Given the description of an element on the screen output the (x, y) to click on. 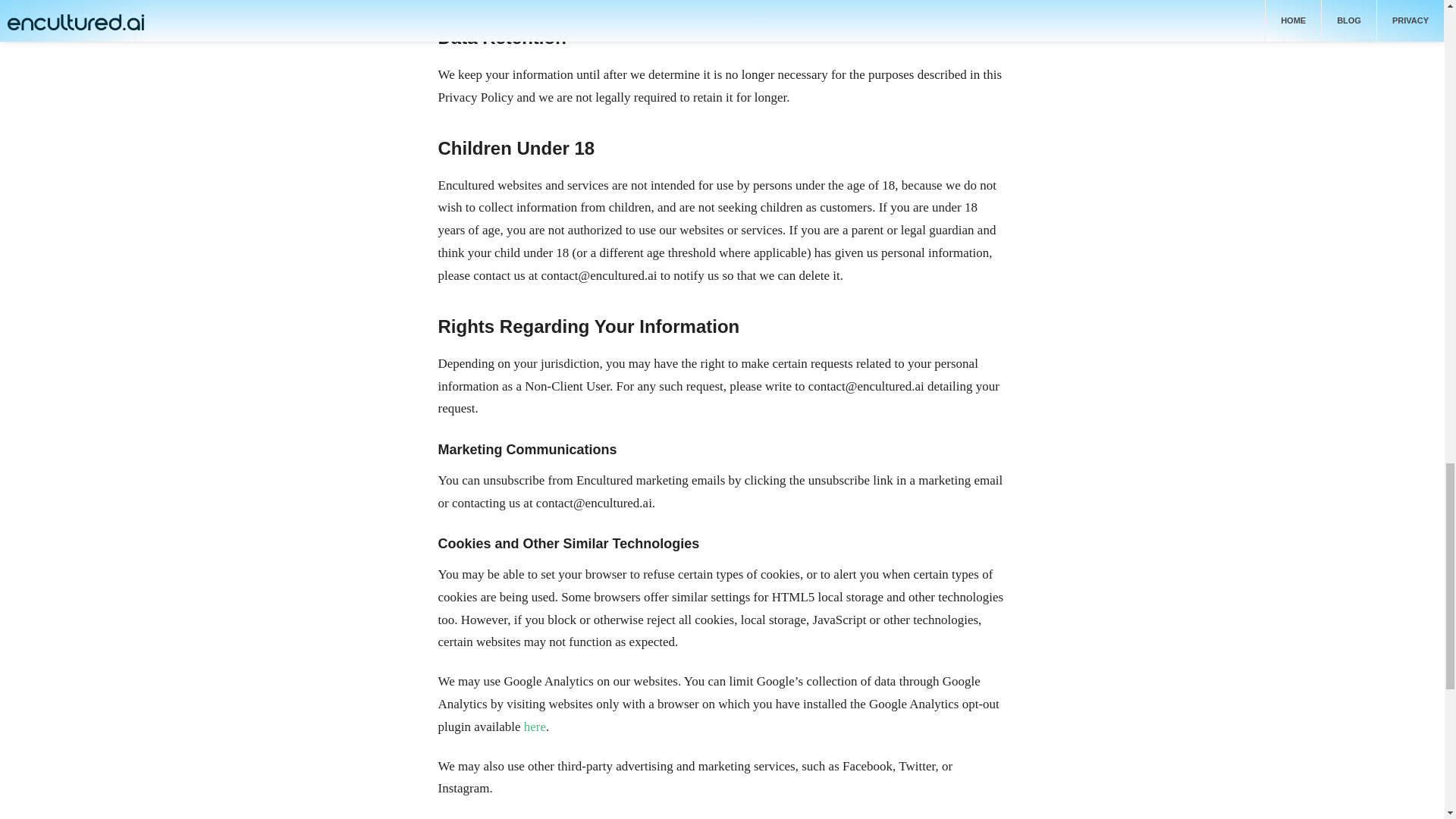
here (535, 726)
